Given the description of an element on the screen output the (x, y) to click on. 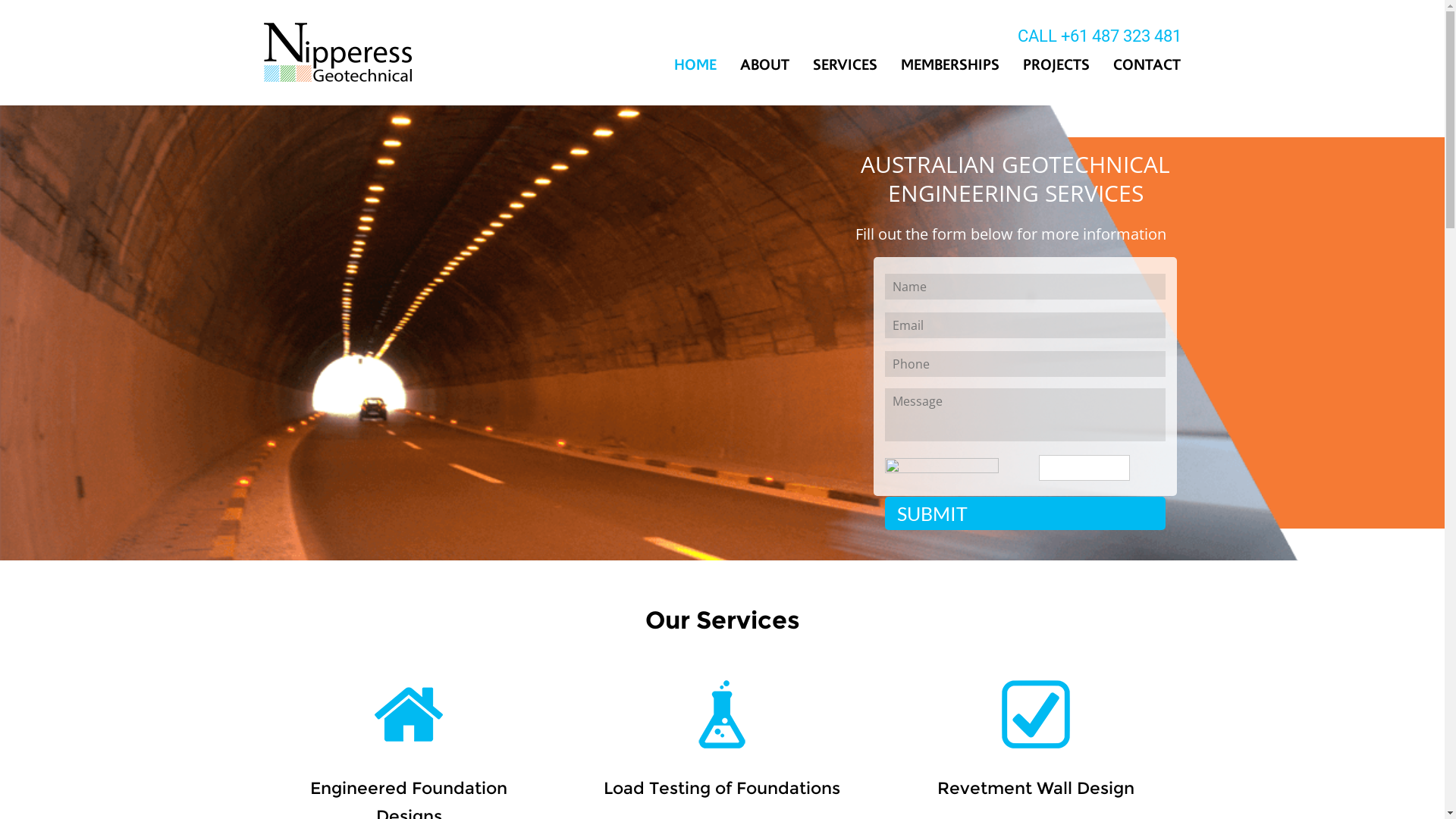
Design-Specification-Advice-1 Element type: hover (1035, 714)
Nipperess Geotechnical Element type: hover (337, 51)
Revetment Wall Design Element type: text (1035, 788)
Load-Testing-of-Foundations Element type: hover (721, 714)
CONTACT Element type: text (1142, 64)
SERVICES Element type: text (844, 64)
HOME Element type: text (694, 64)
Submit Element type: text (1024, 513)
PROJECTS Element type: text (1055, 64)
+61 487 323 481 Element type: text (1120, 34)
Engineered-Foundation-Designs Element type: hover (408, 714)
Load Testing of Foundations Element type: text (721, 788)
ABOUT Element type: text (764, 64)
MEMBERSHIPS Element type: text (949, 64)
